Given the description of an element on the screen output the (x, y) to click on. 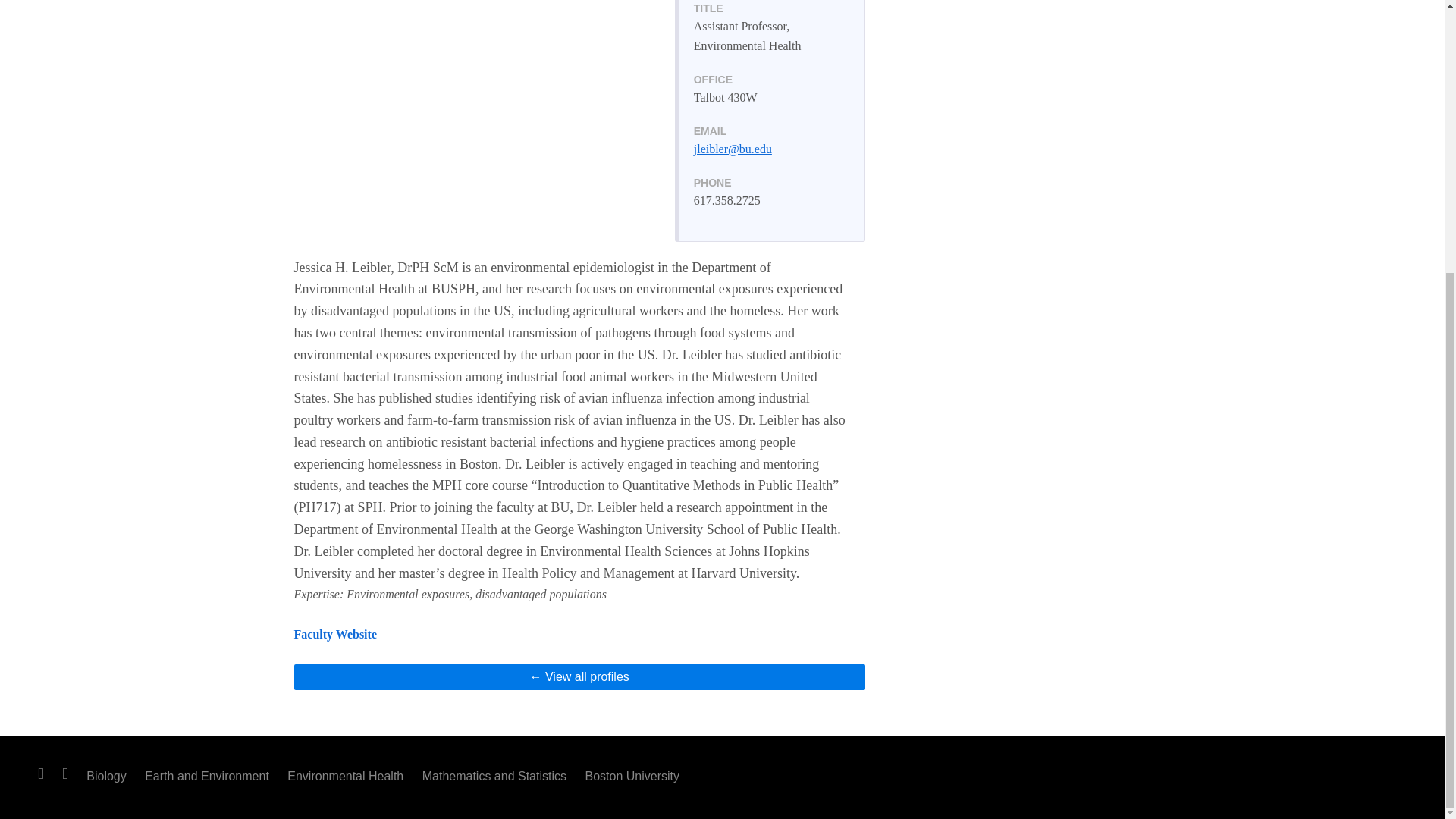
Faculty Website (335, 634)
View all profiles (579, 677)
